Given the description of an element on the screen output the (x, y) to click on. 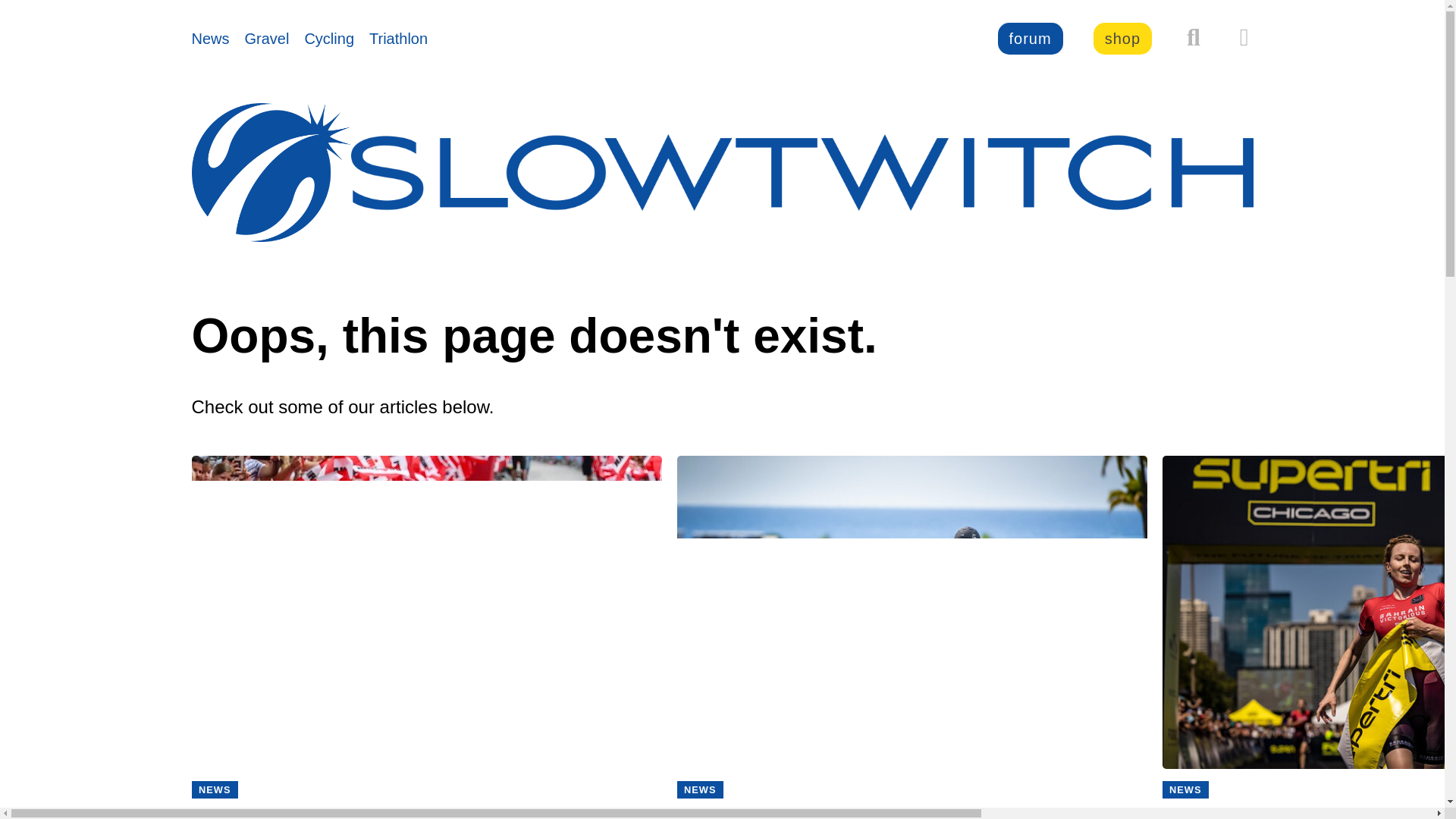
Gravel (266, 38)
Cycling (328, 38)
Taylor-Brown, Wilde Win SuperTri Chicago (1308, 811)
Triathlon (398, 38)
NEWS (214, 789)
shop (1122, 38)
Head Down, Eyes to the Future (912, 811)
NEWS (1184, 789)
NEWS (700, 789)
